Given the description of an element on the screen output the (x, y) to click on. 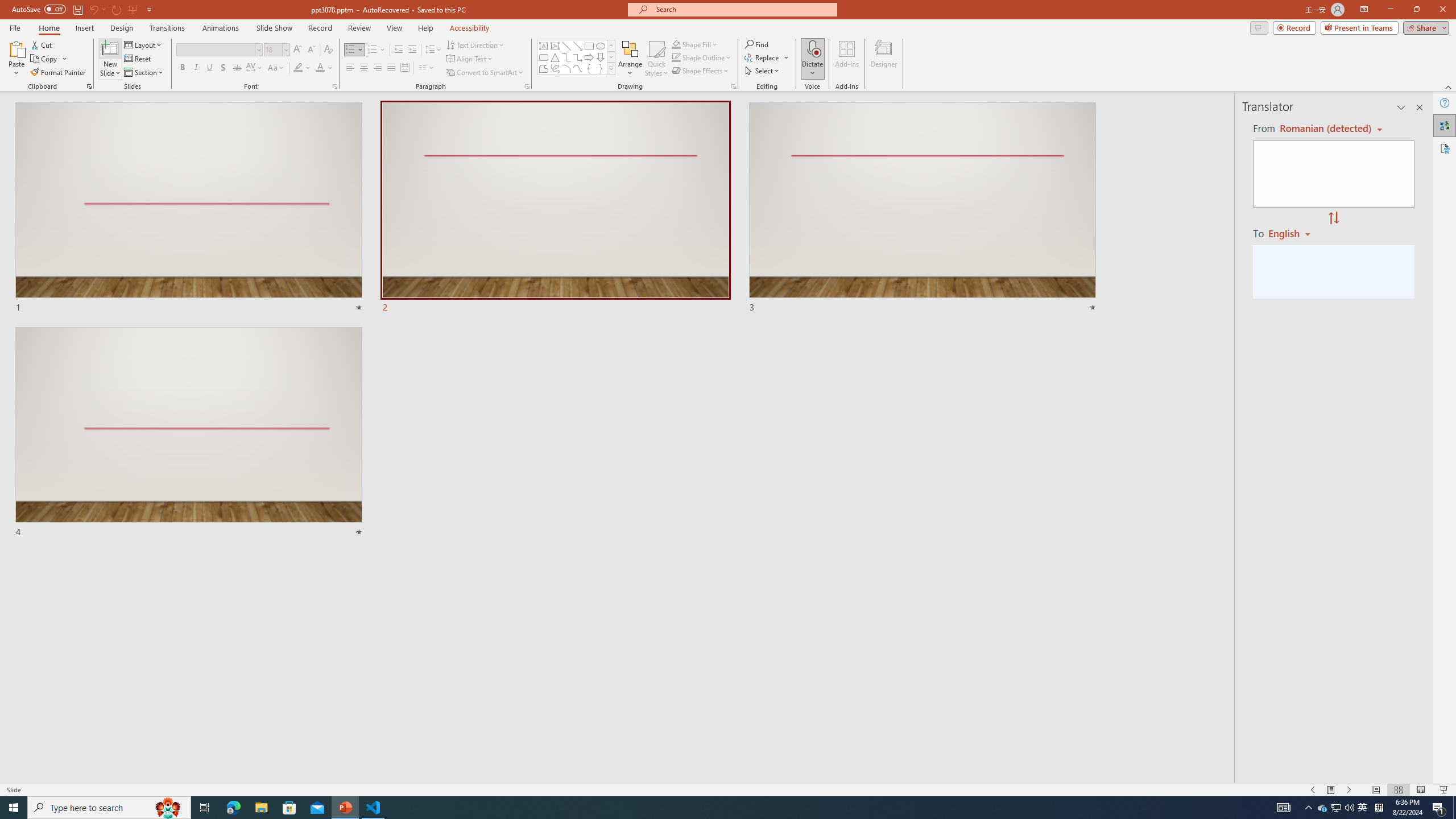
Shape Outline Green, Accent 1 (675, 56)
Justify (390, 67)
Slide Show Previous On (1313, 790)
